Given the description of an element on the screen output the (x, y) to click on. 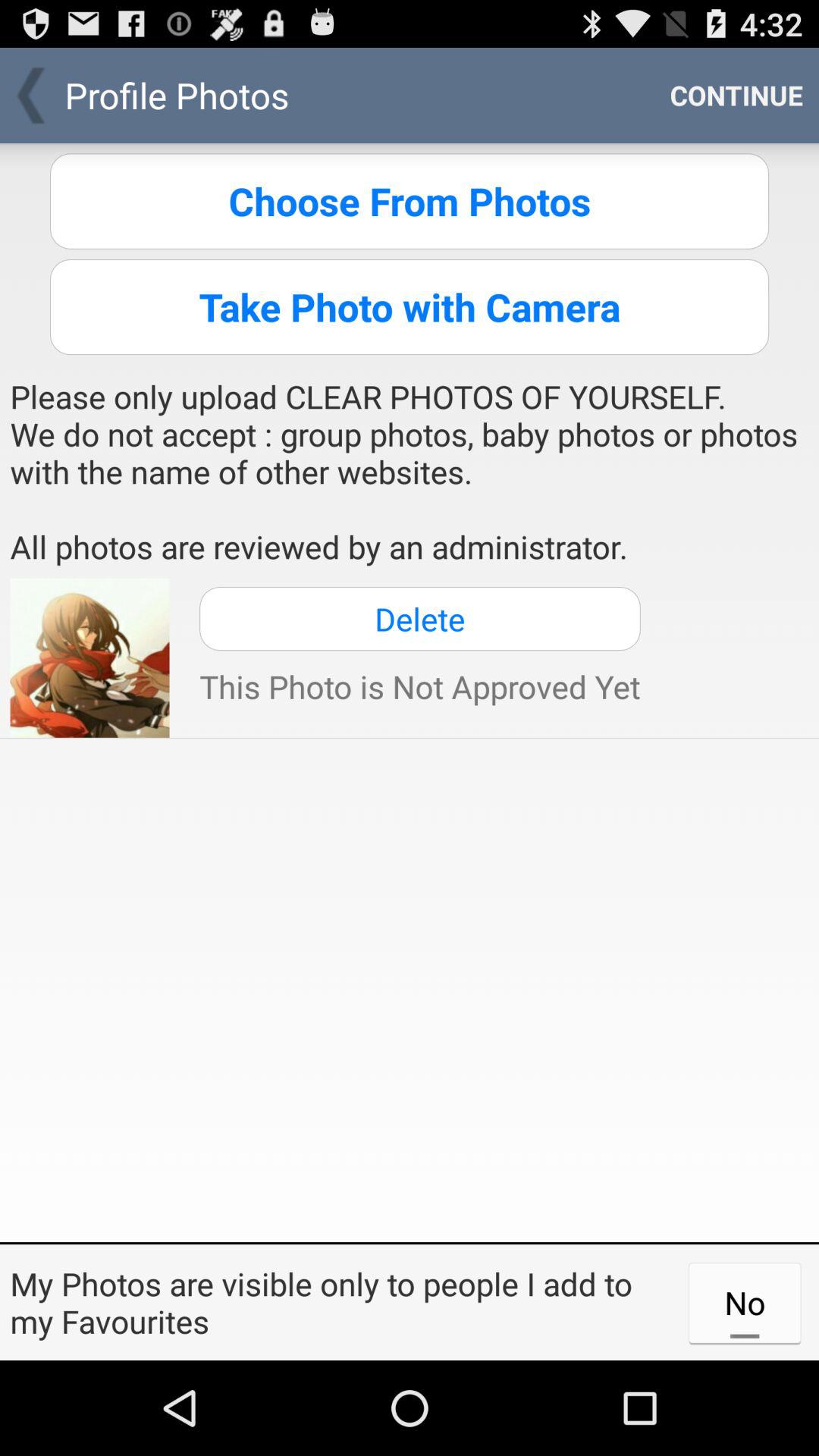
turn off button next to the delete item (89, 657)
